Given the description of an element on the screen output the (x, y) to click on. 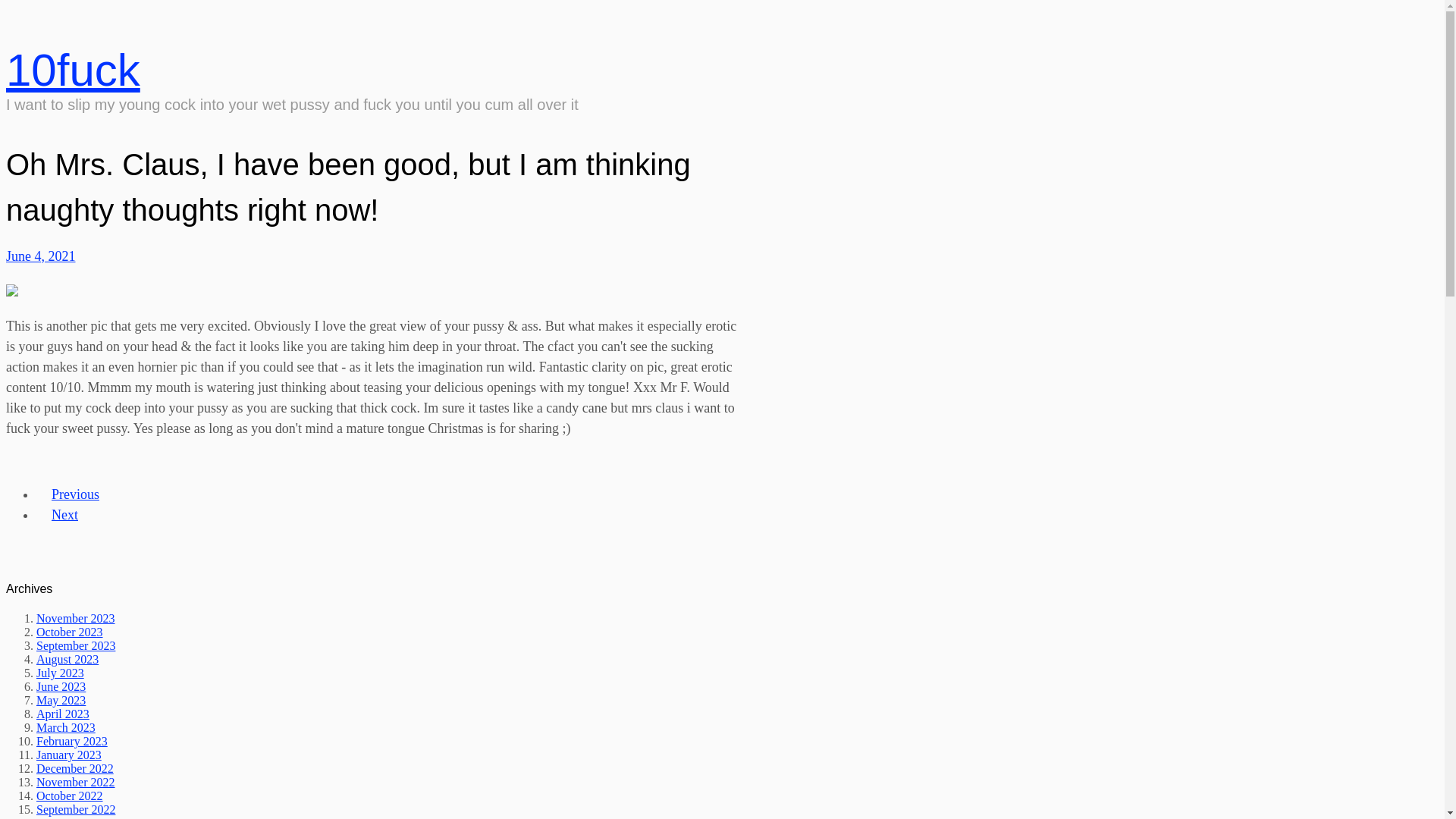
October 2022 Element type: text (69, 795)
10fuck Element type: text (73, 69)
November 2023 Element type: text (75, 617)
August 2023 Element type: text (67, 658)
February 2023 Element type: text (71, 740)
September 2023 Element type: text (75, 645)
June 2023 Element type: text (60, 686)
Previous Element type: text (75, 494)
March 2023 Element type: text (65, 727)
May 2023 Element type: text (60, 699)
Next Element type: text (64, 514)
July 2023 Element type: text (60, 672)
November 2022 Element type: text (75, 781)
June 4, 2021 Element type: text (40, 255)
September 2022 Element type: text (75, 809)
April 2023 Element type: text (62, 713)
January 2023 Element type: text (68, 754)
December 2022 Element type: text (74, 768)
October 2023 Element type: text (69, 631)
